Given the description of an element on the screen output the (x, y) to click on. 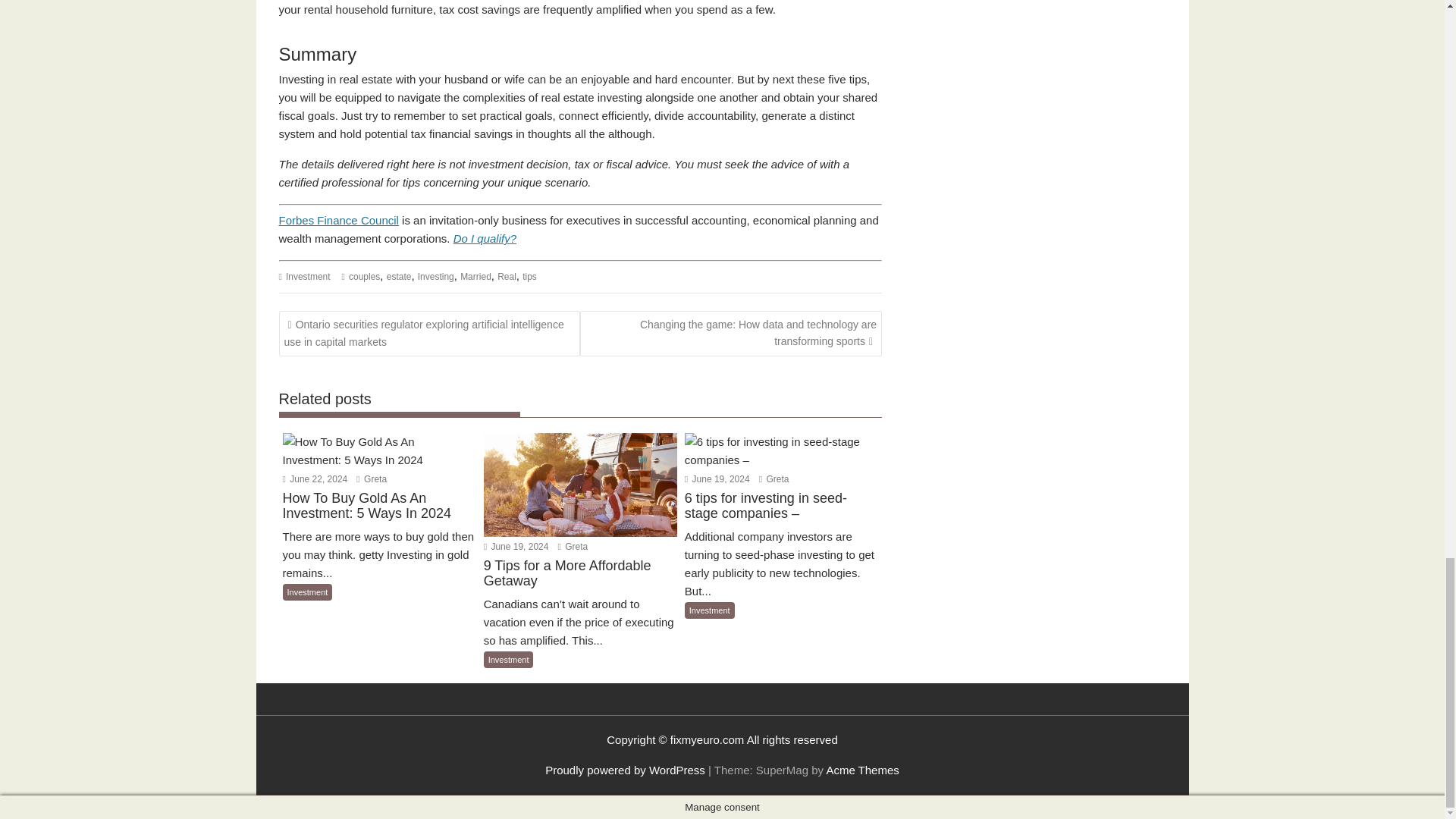
estate (399, 276)
Investment (307, 276)
Married (476, 276)
Real (506, 276)
Investing (435, 276)
Do I qualify? (484, 237)
couples (364, 276)
Forbes Finance Council (338, 219)
